Given the description of an element on the screen output the (x, y) to click on. 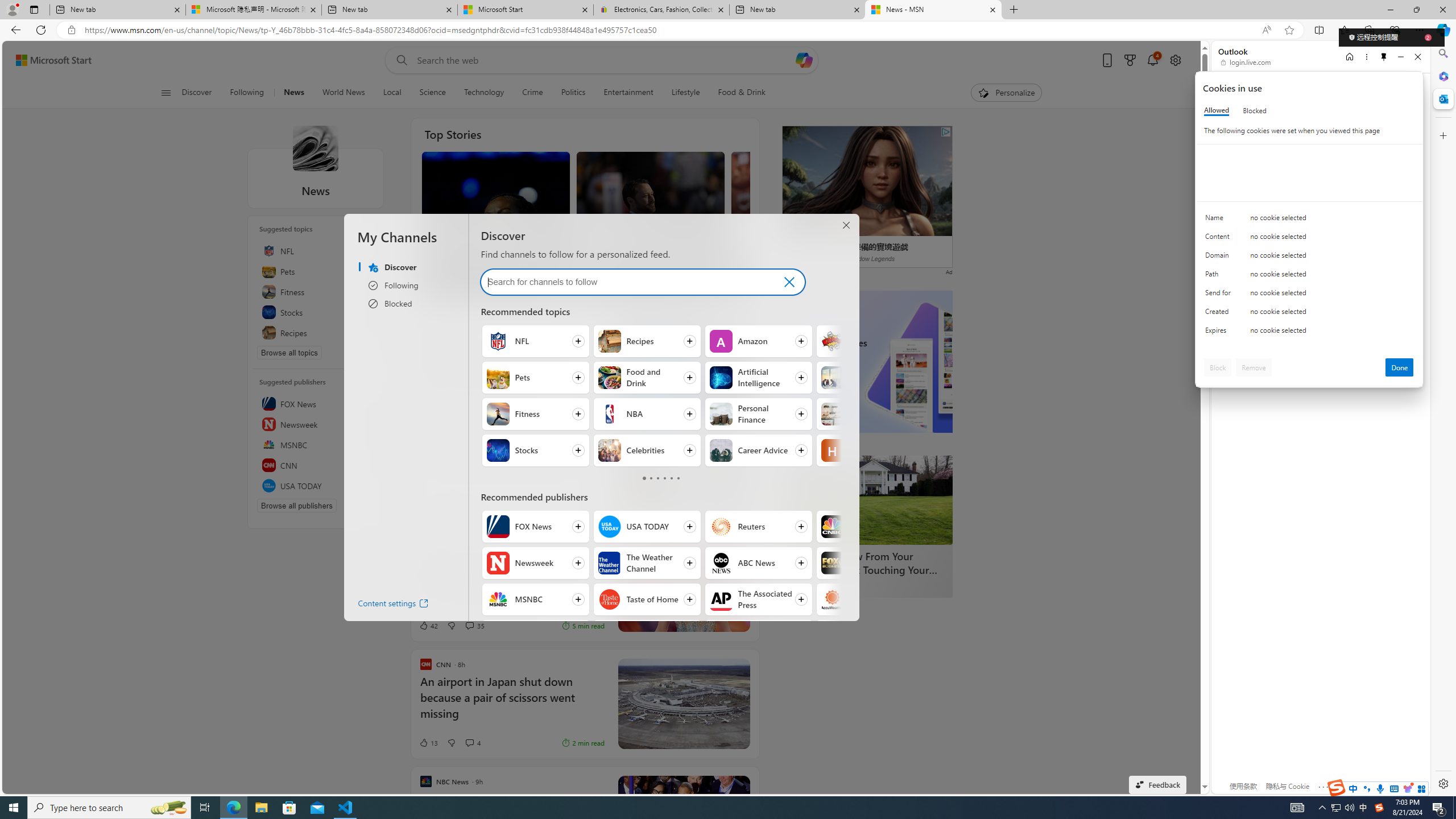
An aerial shot of New Chitose Airport in Hokkaido, Japan. (683, 703)
Clear (789, 281)
View comments 4 Comment (472, 742)
Discover (201, 92)
Subscribe now (821, 408)
Food & Drink (741, 92)
Content (1219, 239)
Follow Fitness (535, 413)
Unpin side pane (1383, 56)
Path (1219, 276)
